Given the description of an element on the screen output the (x, y) to click on. 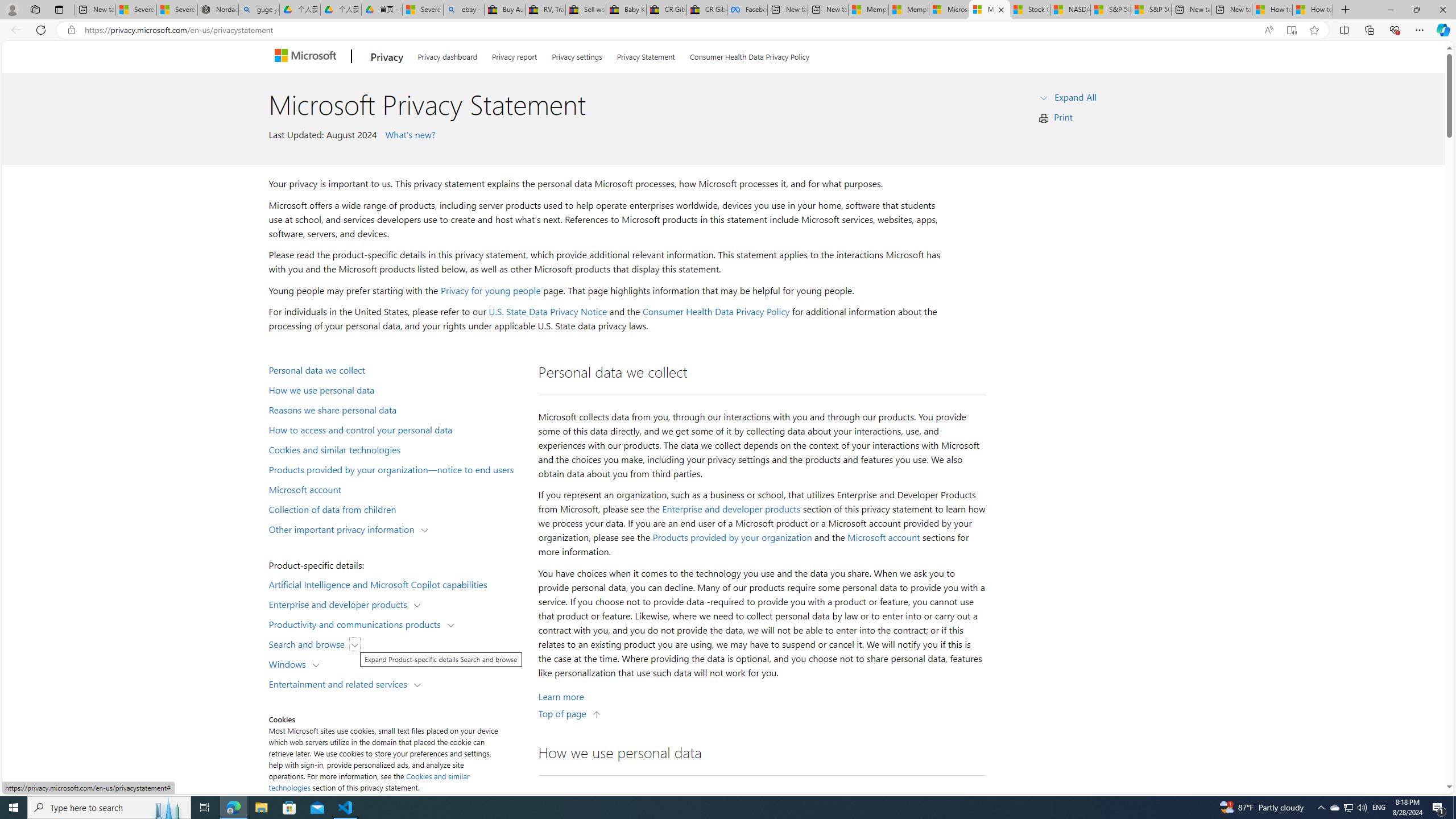
How to Use a Monitor With Your Closed Laptop (1312, 9)
How to access and control your personal data (395, 428)
How we use personal data (395, 389)
Privacy dashboard (447, 54)
Expand All (1075, 96)
